Given the description of an element on the screen output the (x, y) to click on. 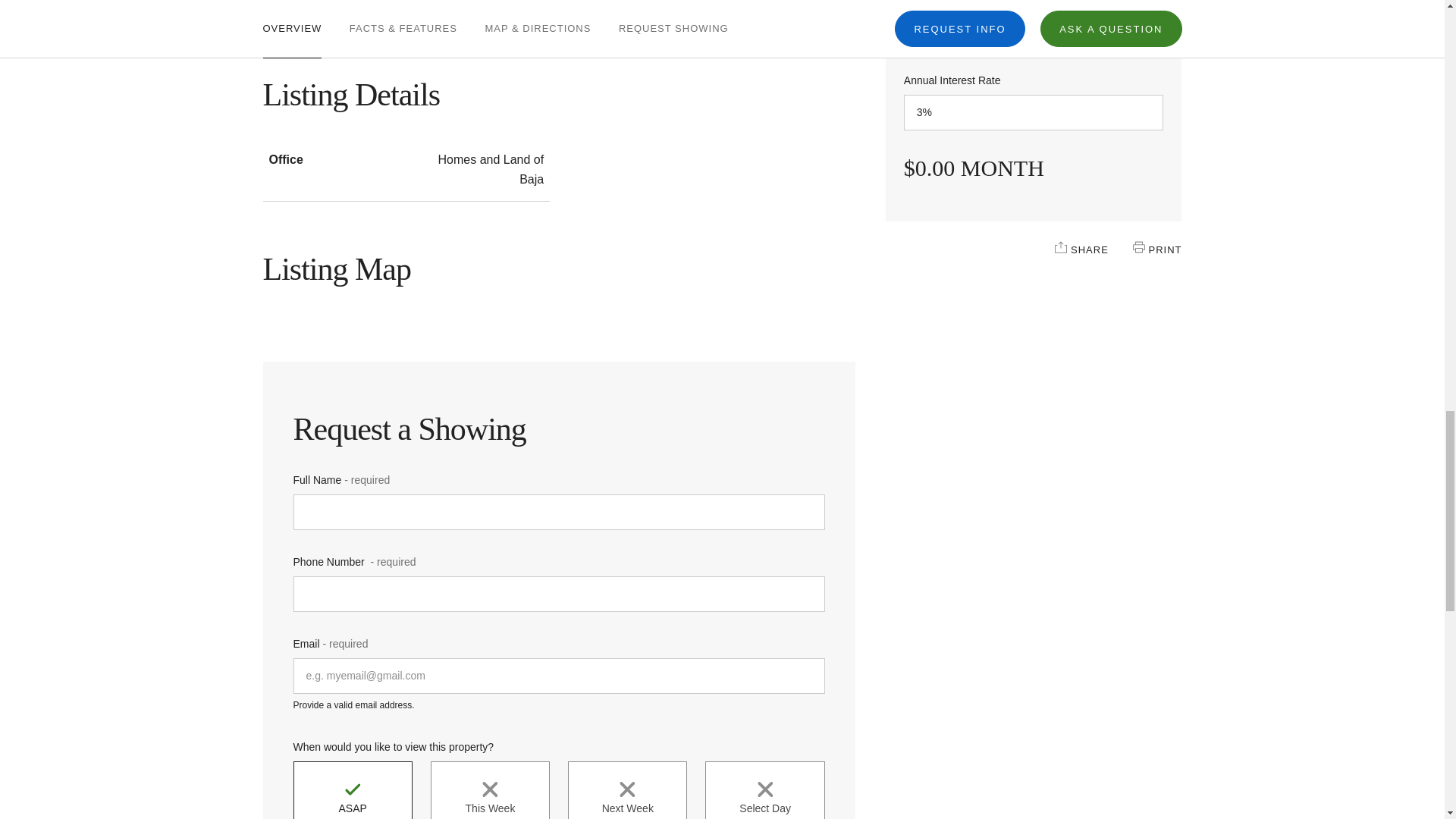
PRINT (1138, 246)
Next Week (627, 790)
SHARE (1060, 246)
This Week (490, 790)
ASAP (352, 790)
30 Years (1033, 30)
